Given the description of an element on the screen output the (x, y) to click on. 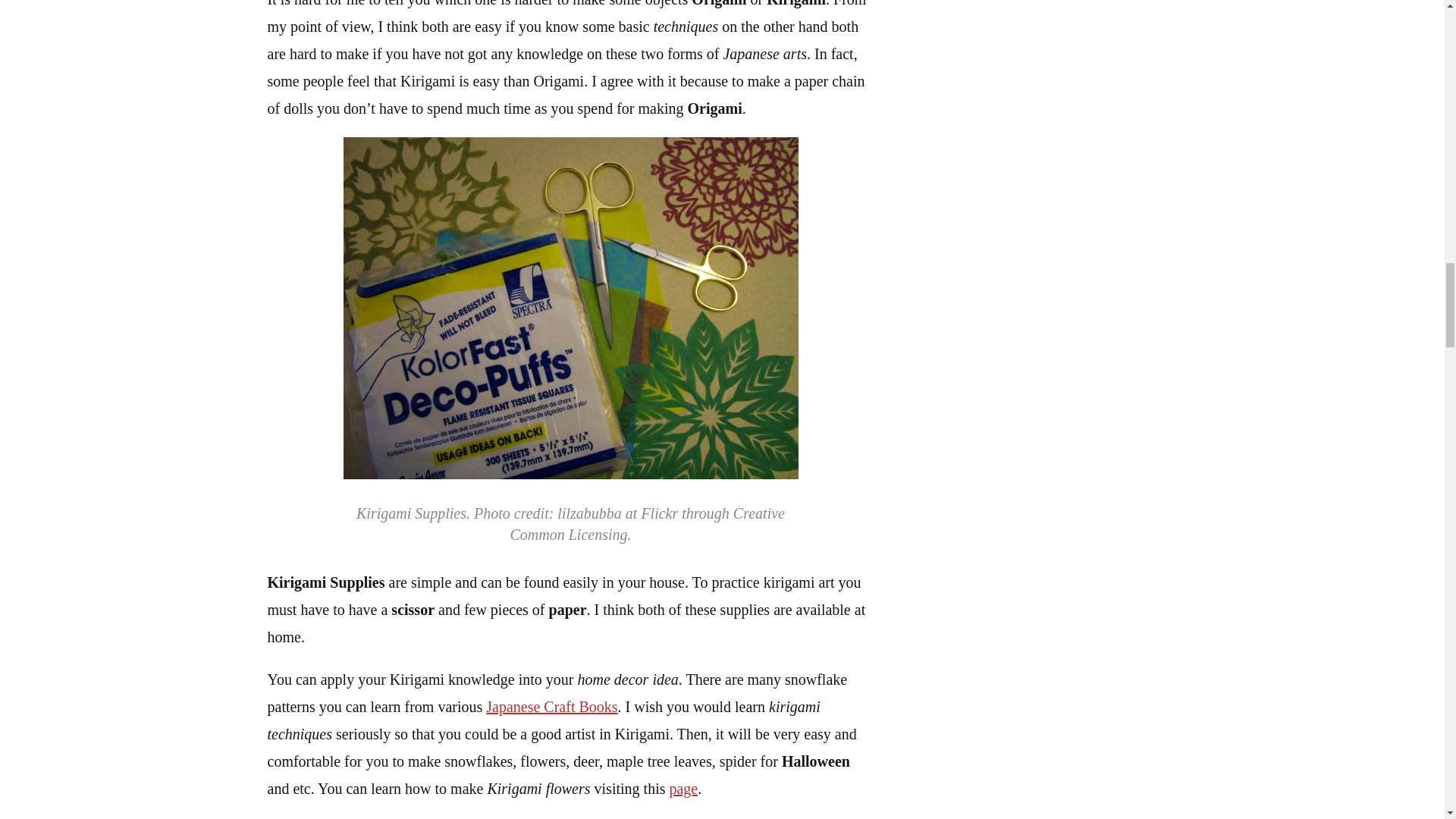
Kirigami Flowers (682, 788)
Japanese Craft Books (551, 706)
